Given the description of an element on the screen output the (x, y) to click on. 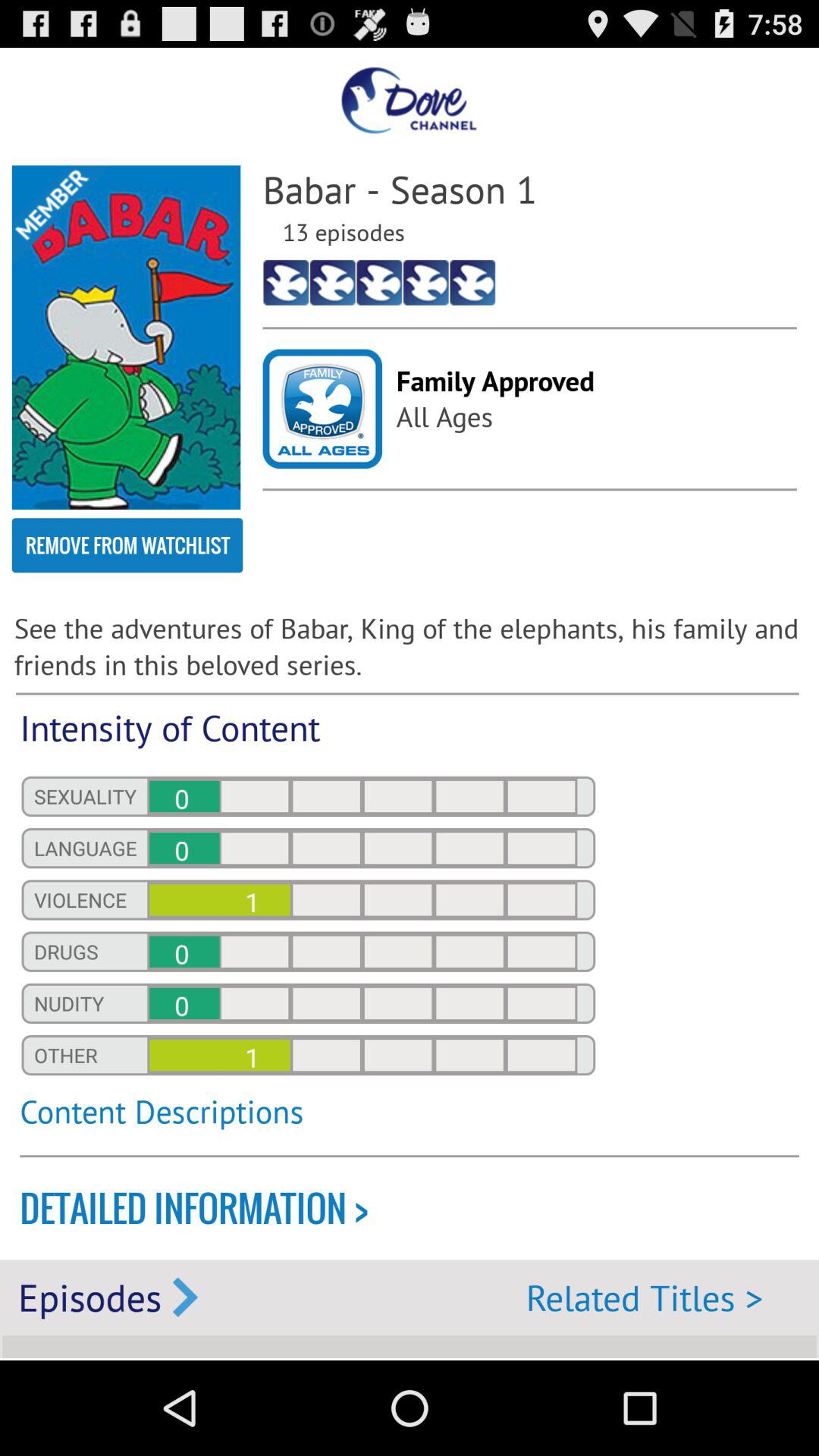
launch remove from watchlist item (126, 545)
